Given the description of an element on the screen output the (x, y) to click on. 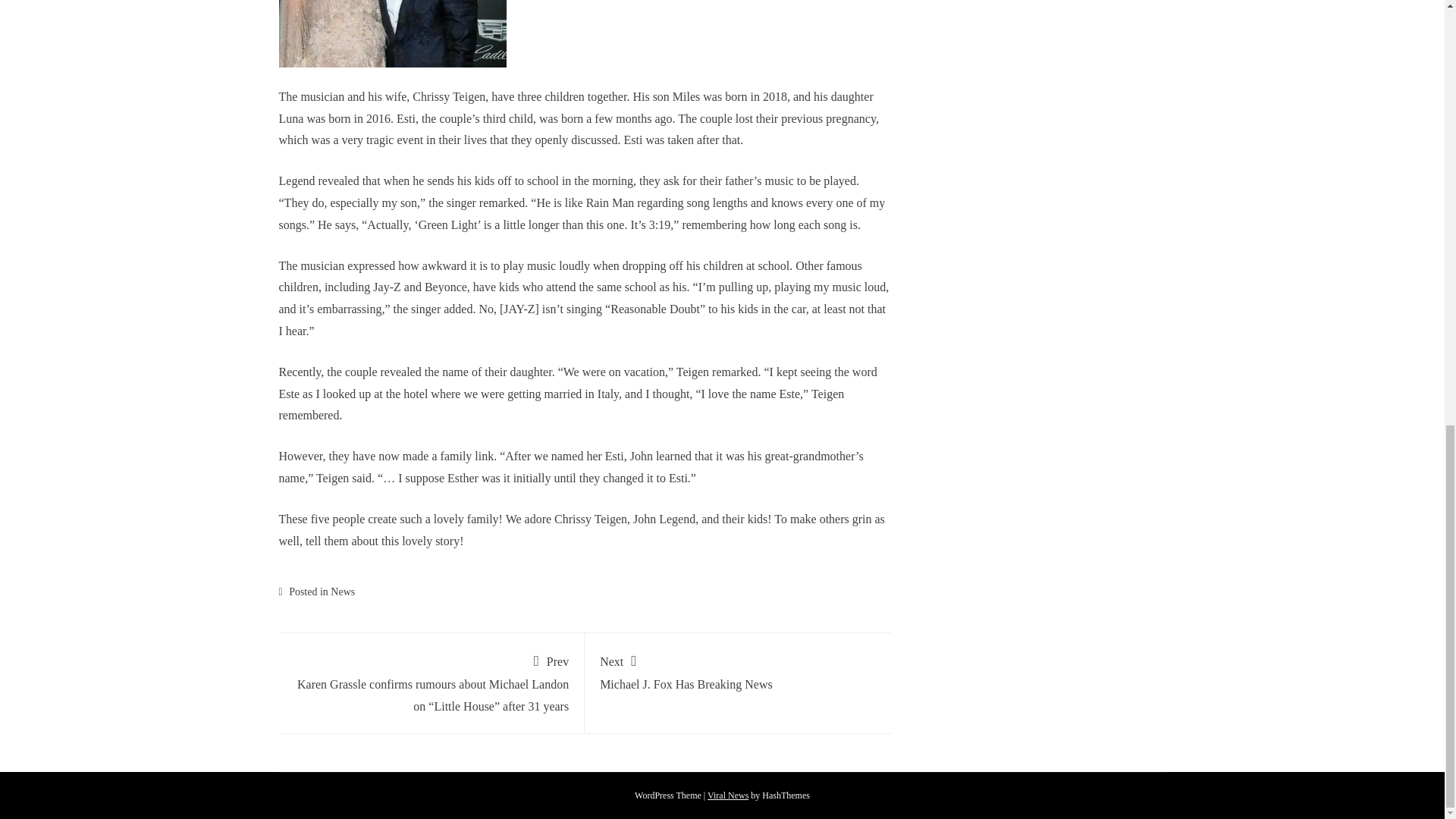
News (342, 591)
Viral News (727, 795)
Download Viral News (727, 795)
